Given the description of an element on the screen output the (x, y) to click on. 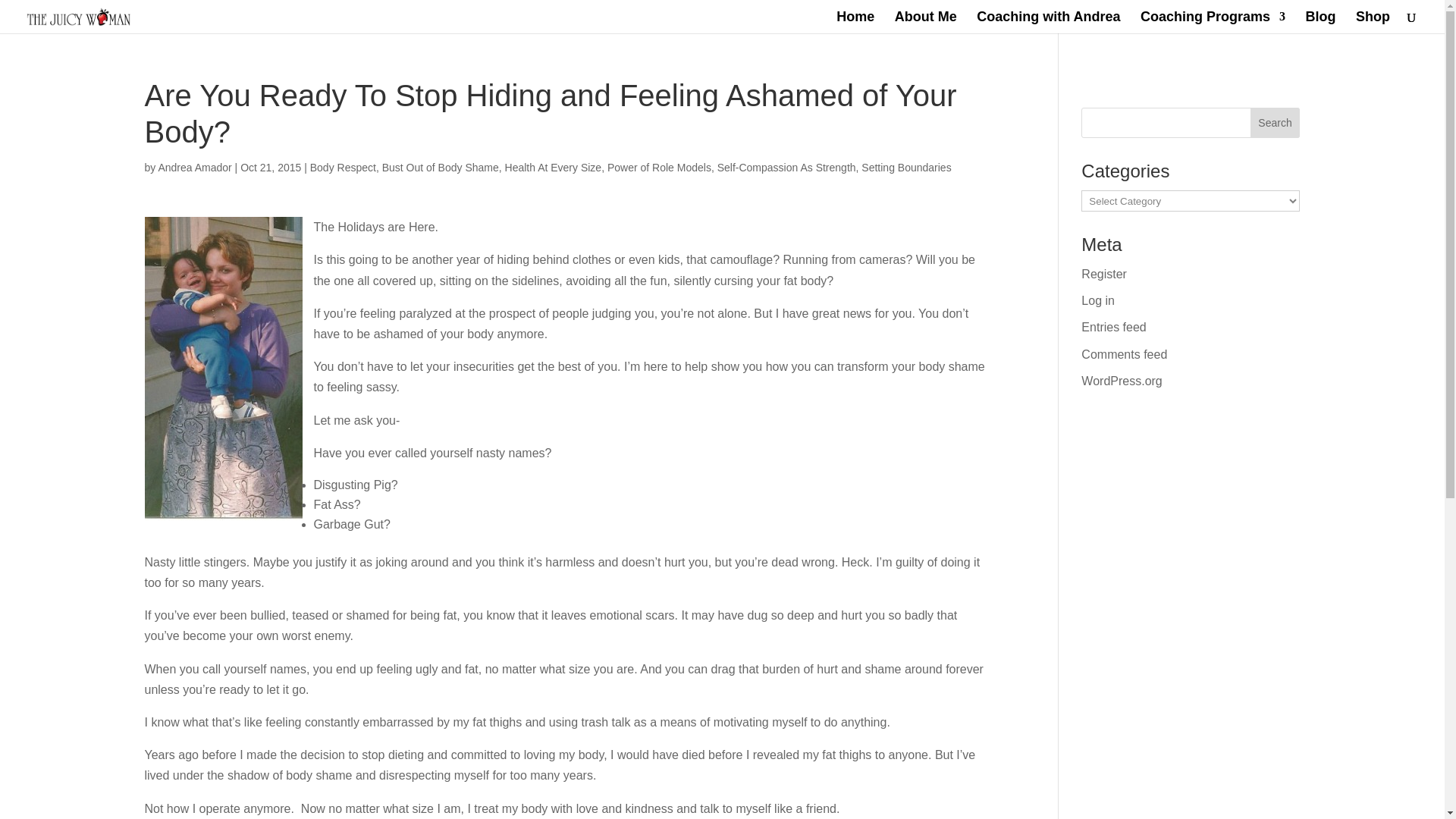
Setting Boundaries (905, 167)
Entries feed (1113, 327)
Home (855, 22)
Comments feed (1124, 354)
About Me (925, 22)
Power of Role Models (659, 167)
Andrea Amador (194, 167)
Self-Compassion As Strength (786, 167)
Log in (1098, 300)
Coaching Programs (1212, 22)
